Given the description of an element on the screen output the (x, y) to click on. 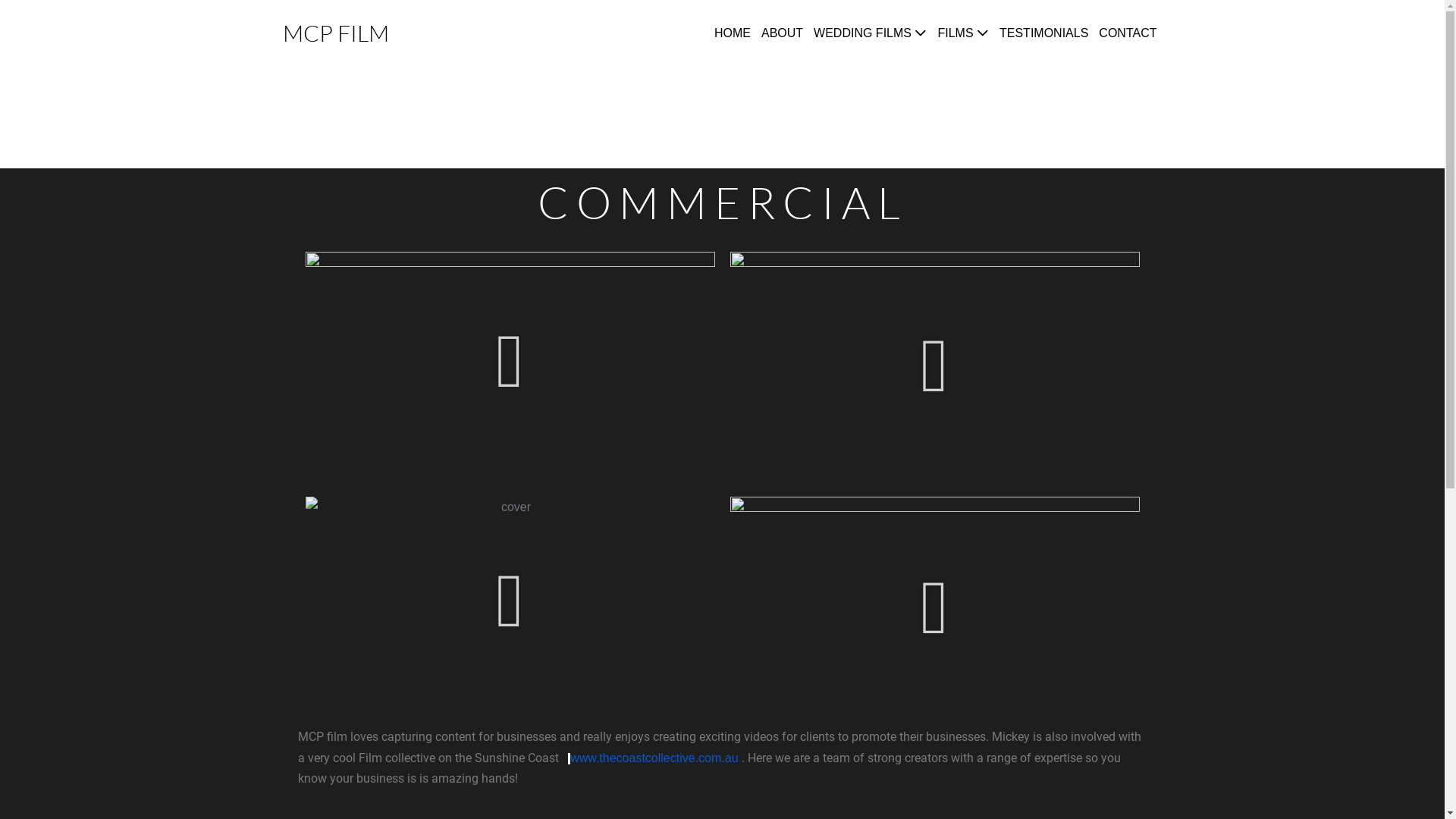
HOME Element type: text (732, 32)
CONTACT Element type: text (1127, 32)
FILMS Element type: text (962, 32)
TESTIMONIALS Element type: text (1043, 32)
ABOUT Element type: text (782, 32)
WEDDING FILMS Element type: text (869, 32)
MCP FILM Element type: text (335, 32)
www.thecoastcollective.com.au Element type: text (653, 756)
